Given the description of an element on the screen output the (x, y) to click on. 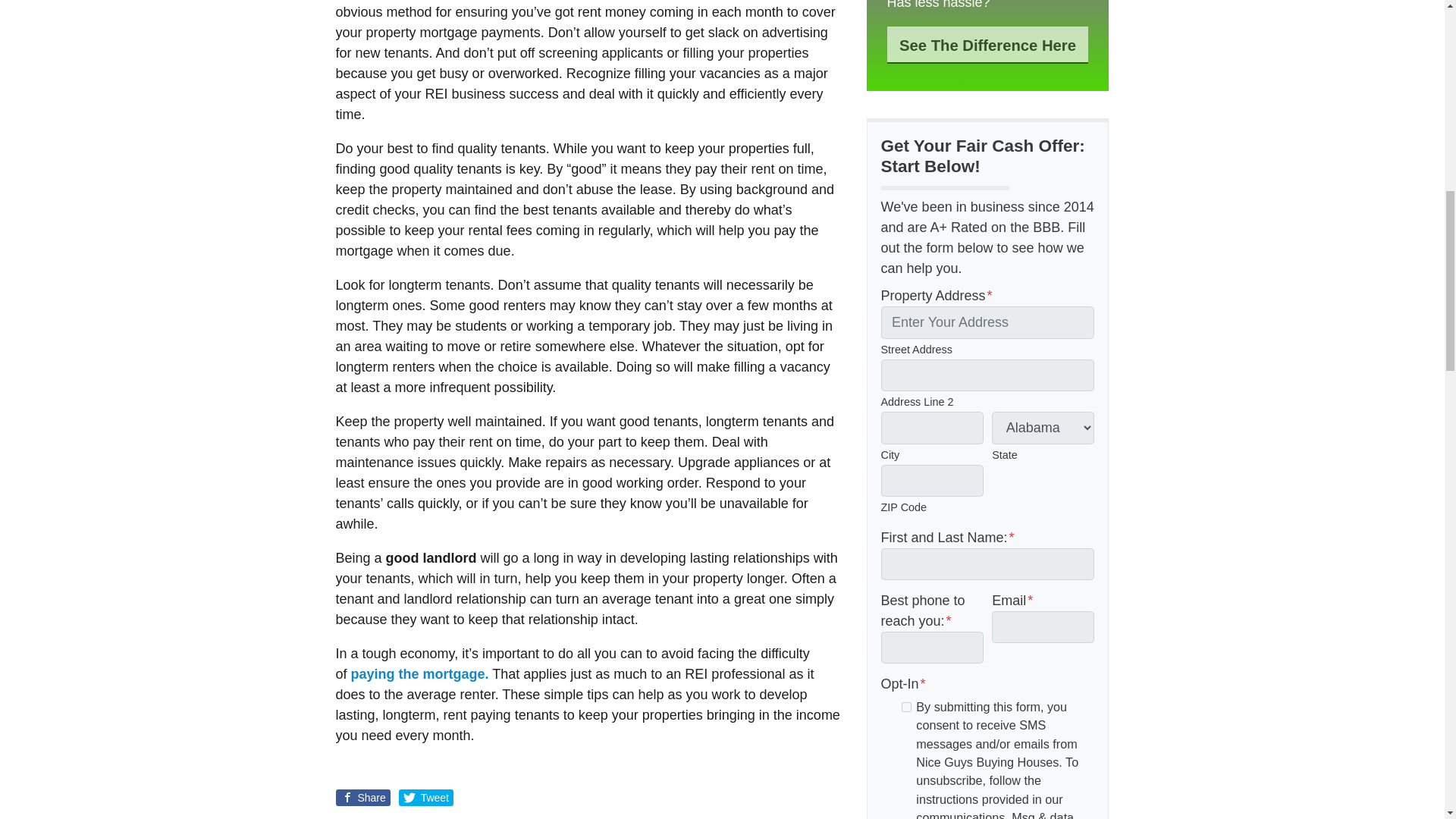
paying the mortgage. (419, 673)
Tweet (425, 797)
Share on Facebook (362, 797)
See The Difference Here (987, 44)
Share (362, 797)
Share on Twitter (425, 797)
